Given the description of an element on the screen output the (x, y) to click on. 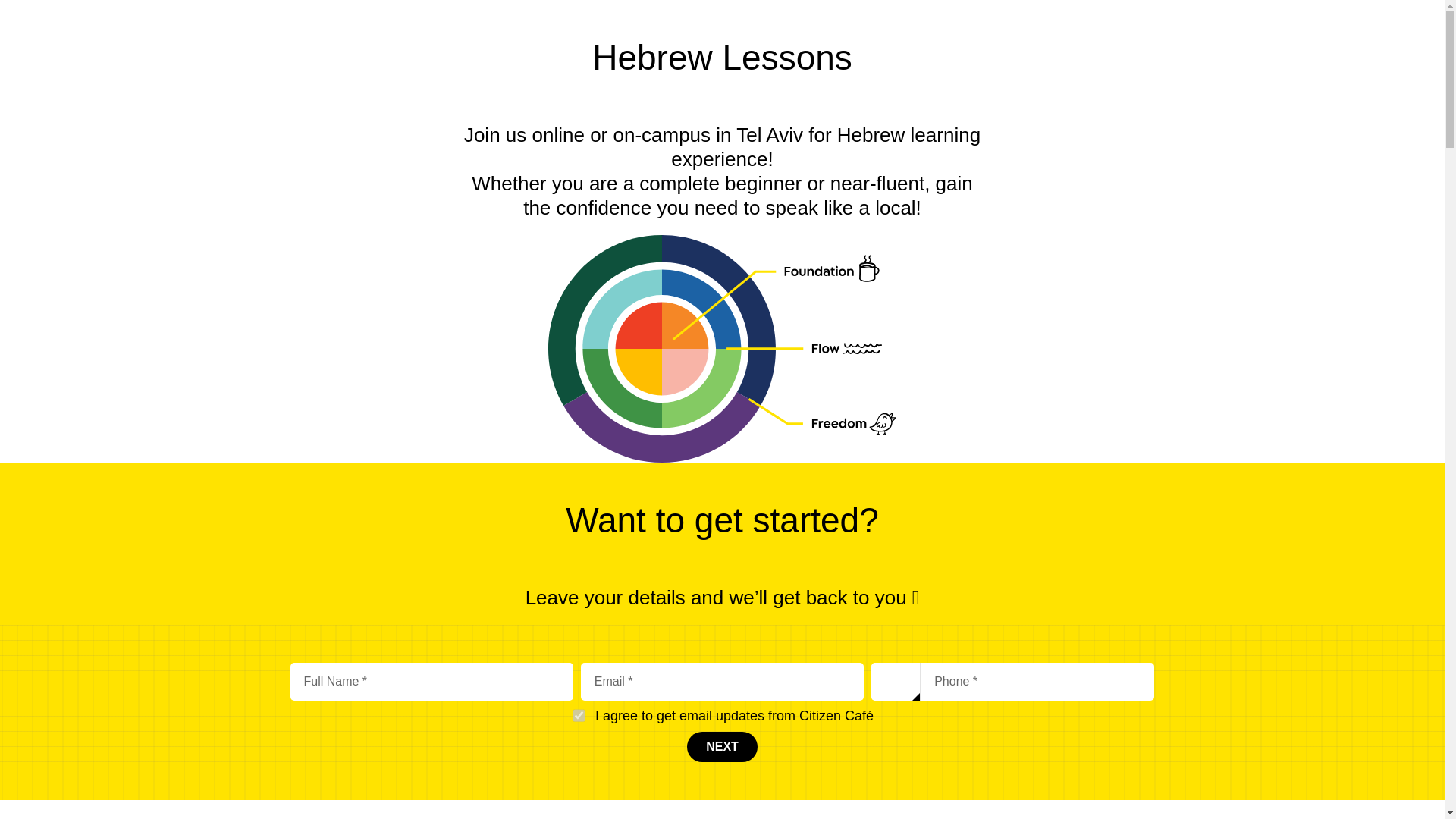
on (577, 714)
NEXT (722, 747)
